Given the description of an element on the screen output the (x, y) to click on. 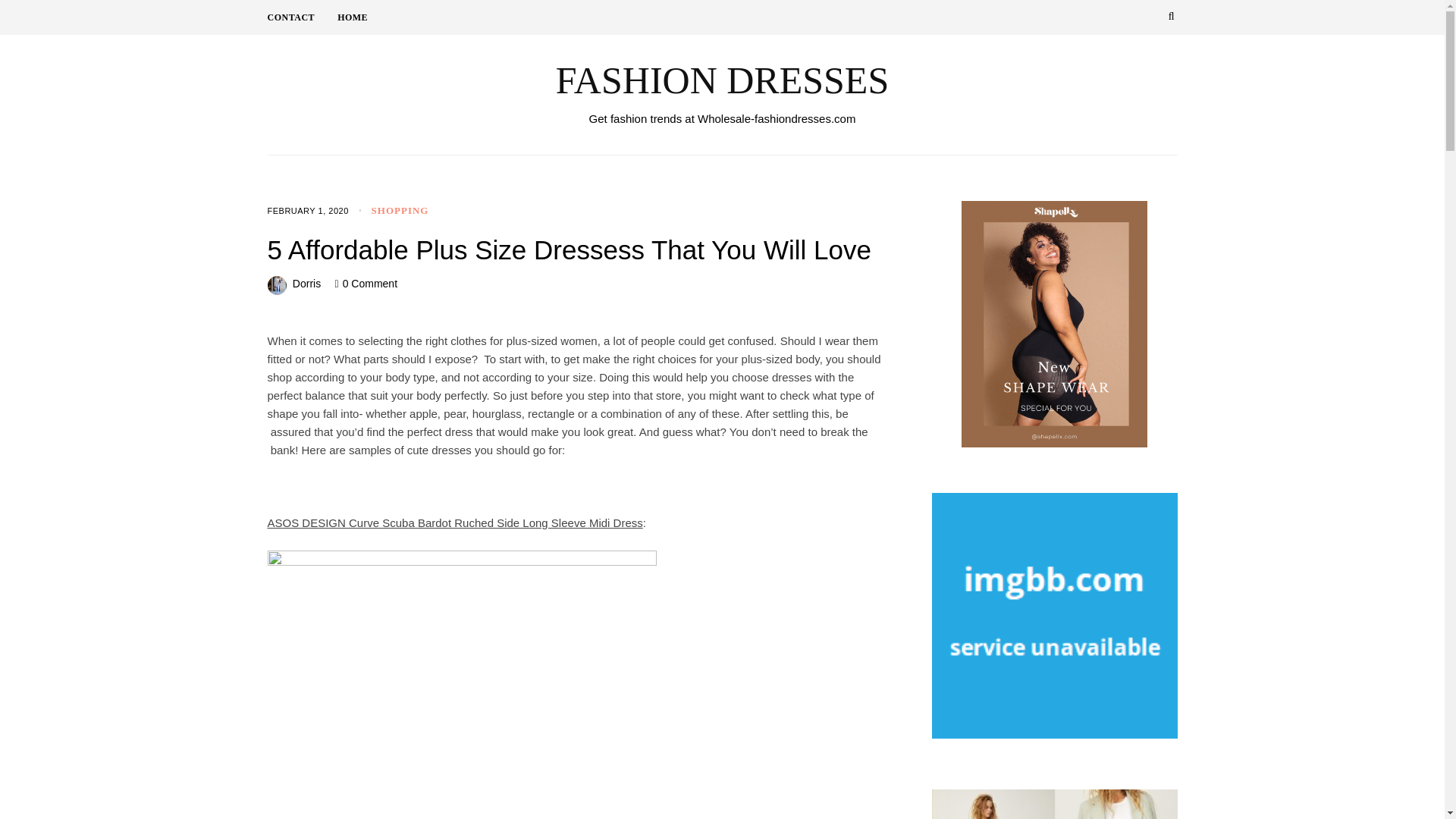
FASHION DRESSES (721, 80)
SHOPPING (400, 210)
0 Comment (369, 283)
Posts by Dorris (306, 283)
Dorris (306, 283)
CONTACT (301, 17)
FEBRUARY 1, 2020 (306, 210)
